Given the description of an element on the screen output the (x, y) to click on. 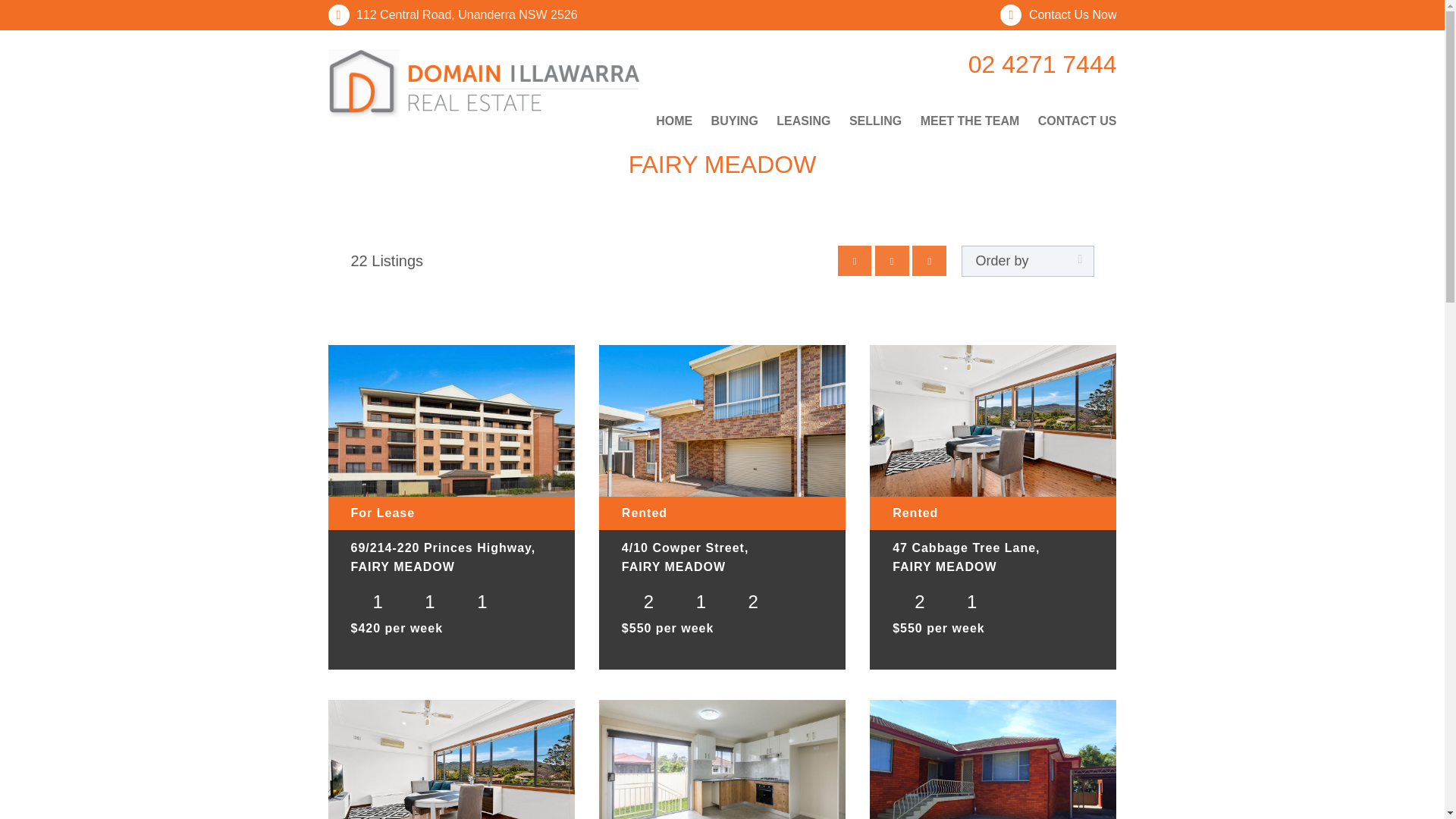
BUYING Element type: text (734, 121)
69/214-220 Princes Highway,
FAIRY MEADOW Element type: text (450, 559)
SELLING Element type: text (875, 121)
Grid View Element type: hover (892, 260)
MEET THE TEAM Element type: text (970, 121)
Contact Us Now Element type: text (1058, 14)
CONTACT US Element type: text (1073, 121)
47 Cabbage Tree Lane,
FAIRY MEADOW Element type: text (992, 559)
List View Element type: hover (929, 260)
HOME Element type: text (677, 121)
4/10 Cowper Street,
FAIRY MEADOW Element type: text (721, 559)
02 4271 7444 Element type: text (1019, 64)
LEASING Element type: text (802, 121)
